Given the description of an element on the screen output the (x, y) to click on. 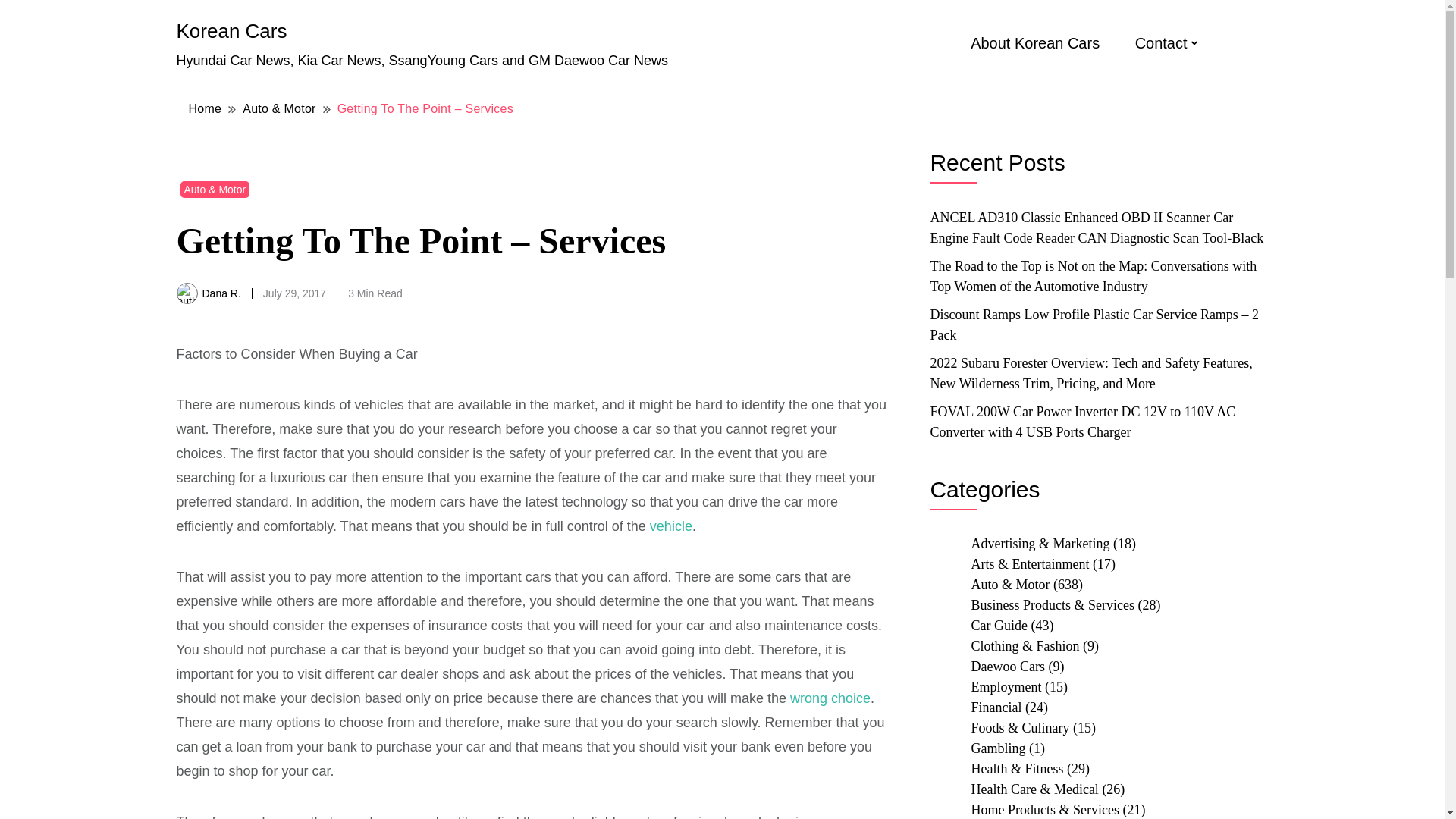
About Korean Cars (1035, 43)
vehicle (671, 525)
Home (204, 108)
wrong choice (830, 698)
Contact (1161, 43)
Korean Cars (231, 30)
July 29, 2017 (294, 293)
Dana R. (221, 293)
